Given the description of an element on the screen output the (x, y) to click on. 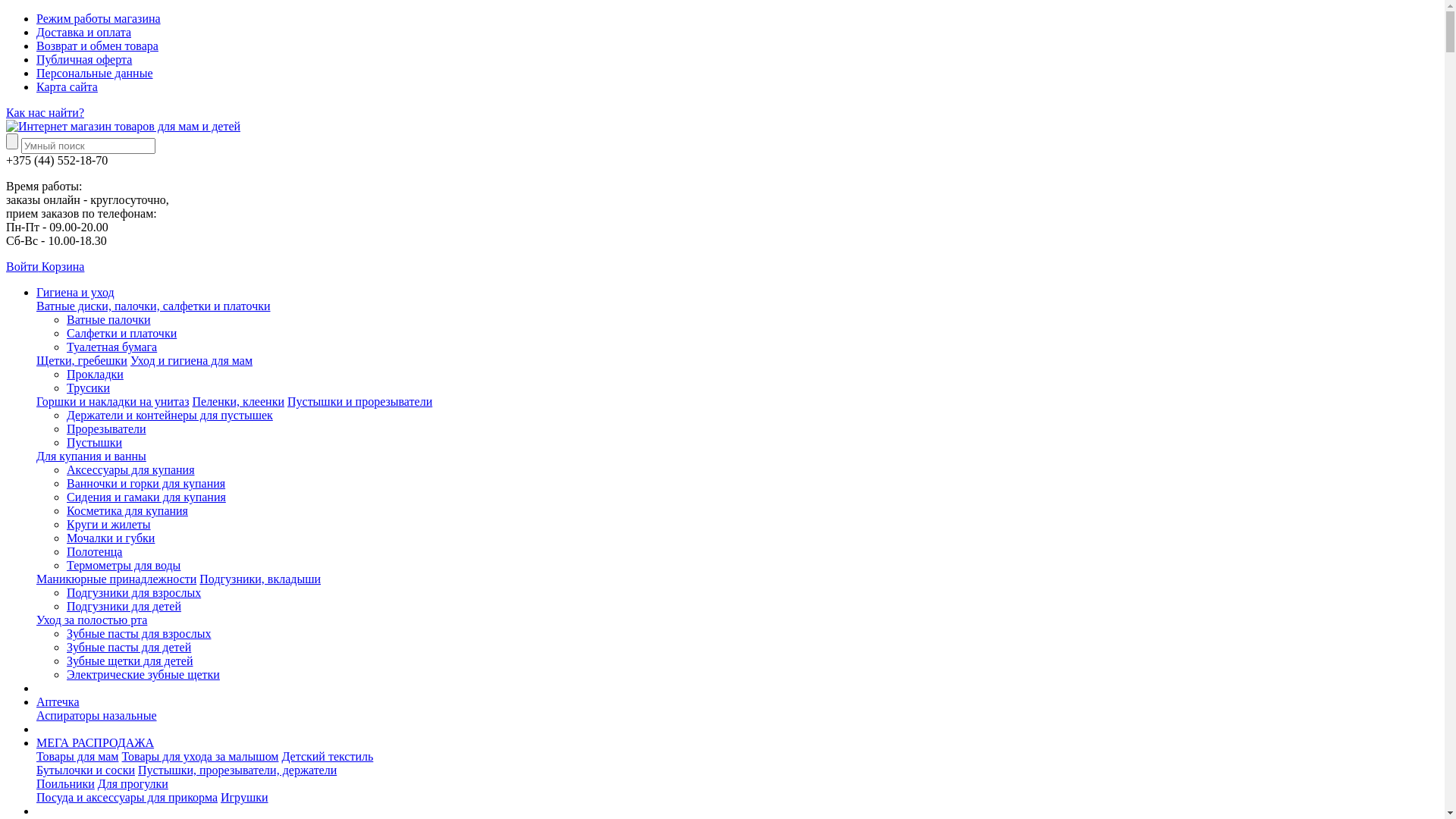
Ebaby Element type: hover (123, 126)
